Given the description of an element on the screen output the (x, y) to click on. 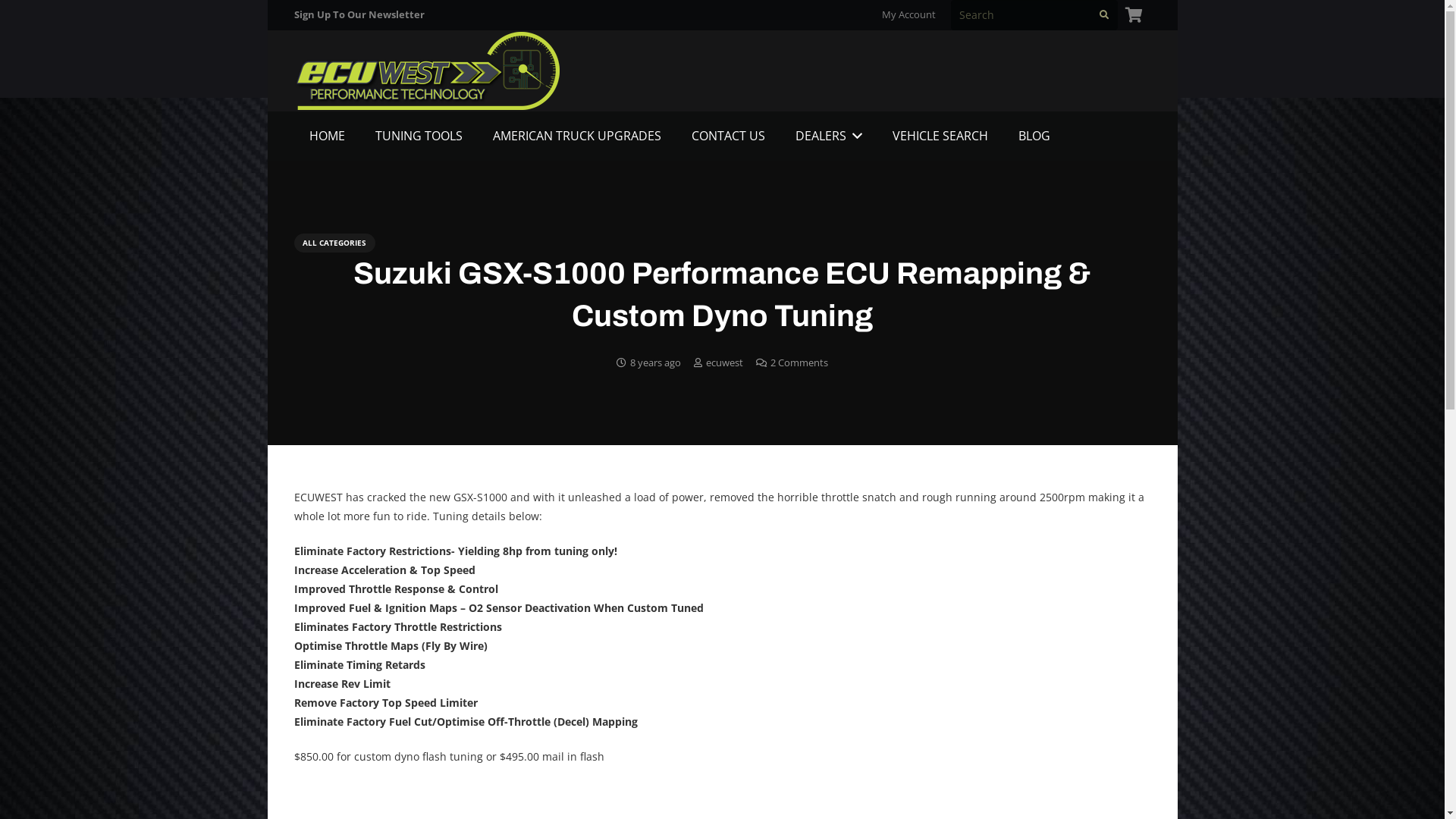
TUNING TOOLS Element type: text (417, 135)
DEALERS Element type: text (827, 135)
ALL CATEGORIES Element type: text (335, 242)
CONTACT US Element type: text (728, 135)
My Account Element type: text (908, 14)
Sign Up To Our Newsletter Element type: text (359, 14)
BLOG Element type: text (1034, 135)
2 Comments Element type: text (799, 362)
VEHICLE SEARCH Element type: text (940, 135)
AMERICAN TRUCK UPGRADES Element type: text (576, 135)
ecuwest Element type: text (724, 362)
HOME Element type: text (327, 135)
